Given the description of an element on the screen output the (x, y) to click on. 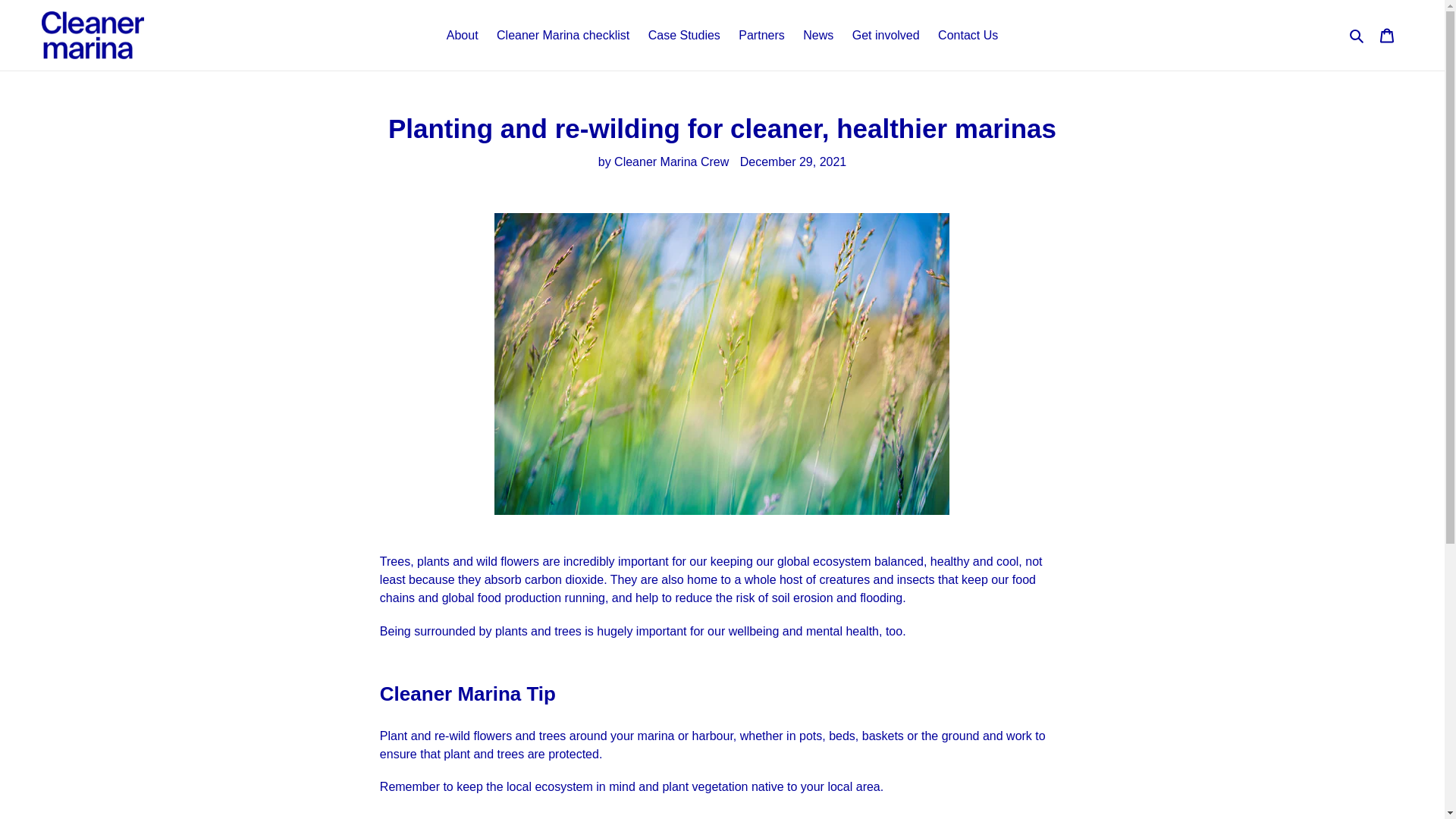
News (817, 35)
Search (1357, 35)
Cart (1387, 34)
Case Studies (684, 35)
Cleaner Marina checklist (563, 35)
Contact Us (968, 35)
Partners (761, 35)
About (462, 35)
Get involved (885, 35)
